Given the description of an element on the screen output the (x, y) to click on. 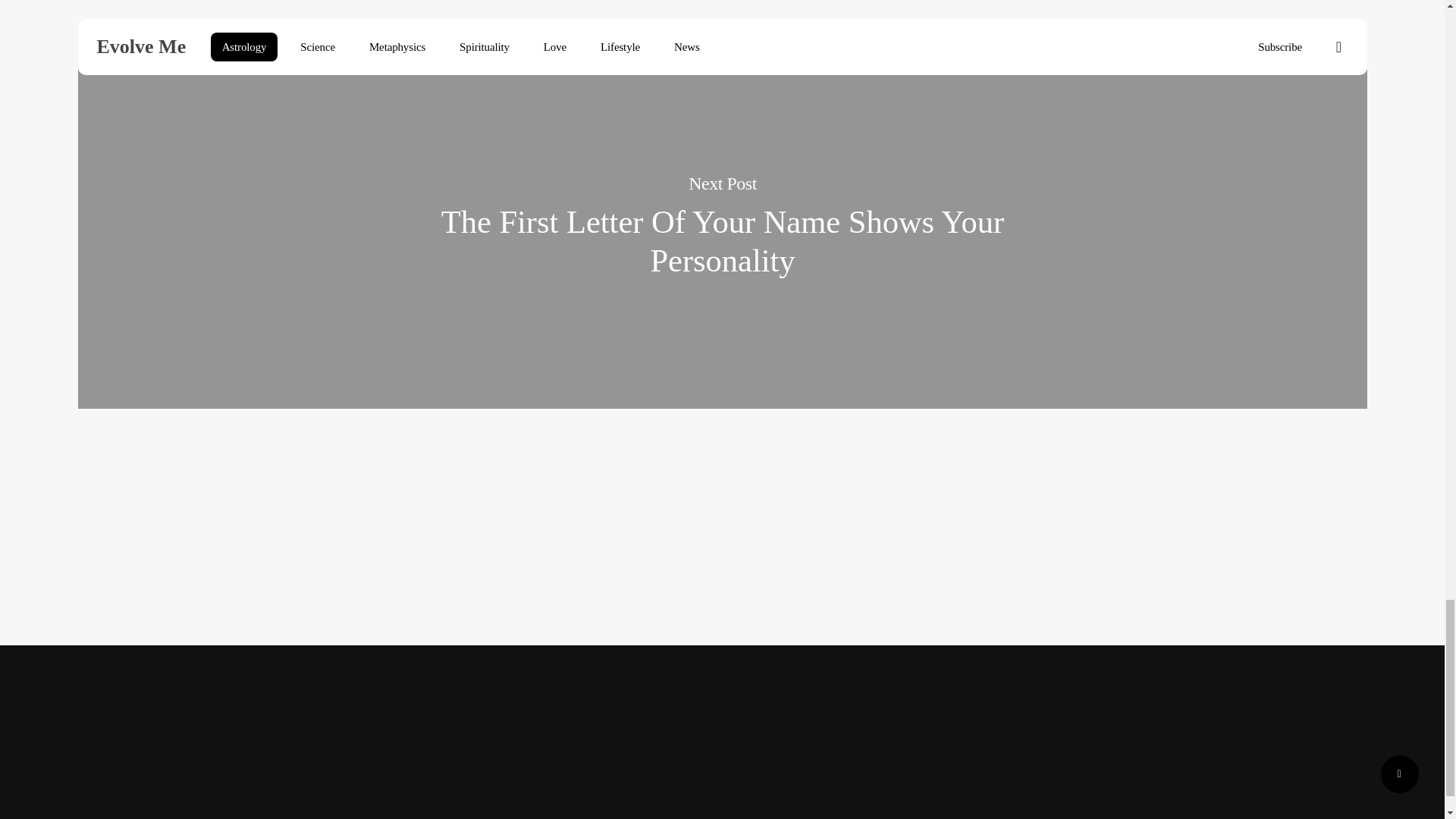
The First Letter Of Your Name Shows Your Personality (722, 241)
